Given the description of an element on the screen output the (x, y) to click on. 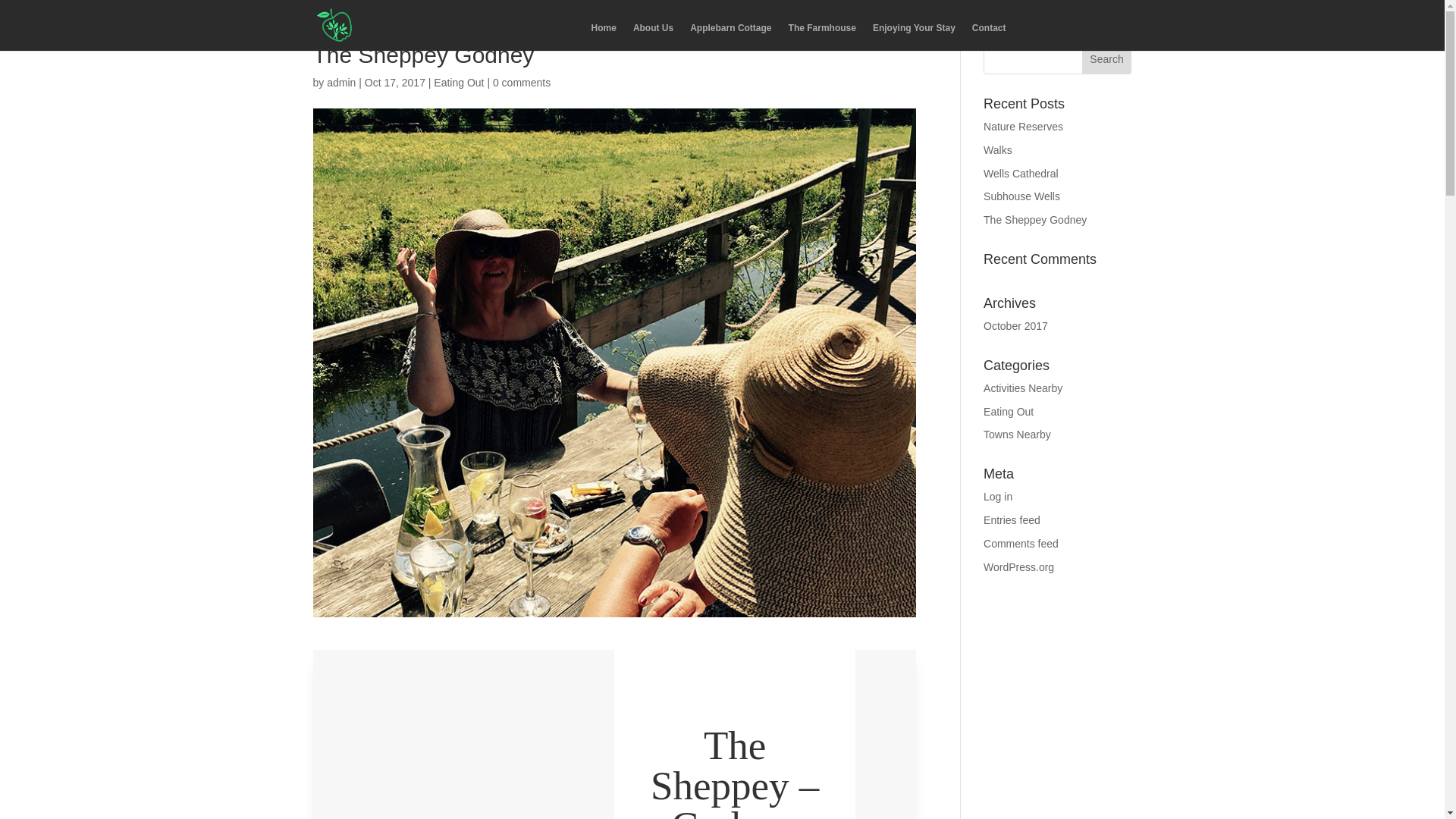
Applebarn Cottage (730, 36)
Contact (989, 36)
The Farmhouse (822, 36)
Posts by admin (340, 82)
About Us (652, 36)
Enjoying Your Stay (913, 36)
0 comments (521, 82)
admin (340, 82)
Home (603, 36)
Search (1106, 59)
Eating Out (458, 82)
